Given the description of an element on the screen output the (x, y) to click on. 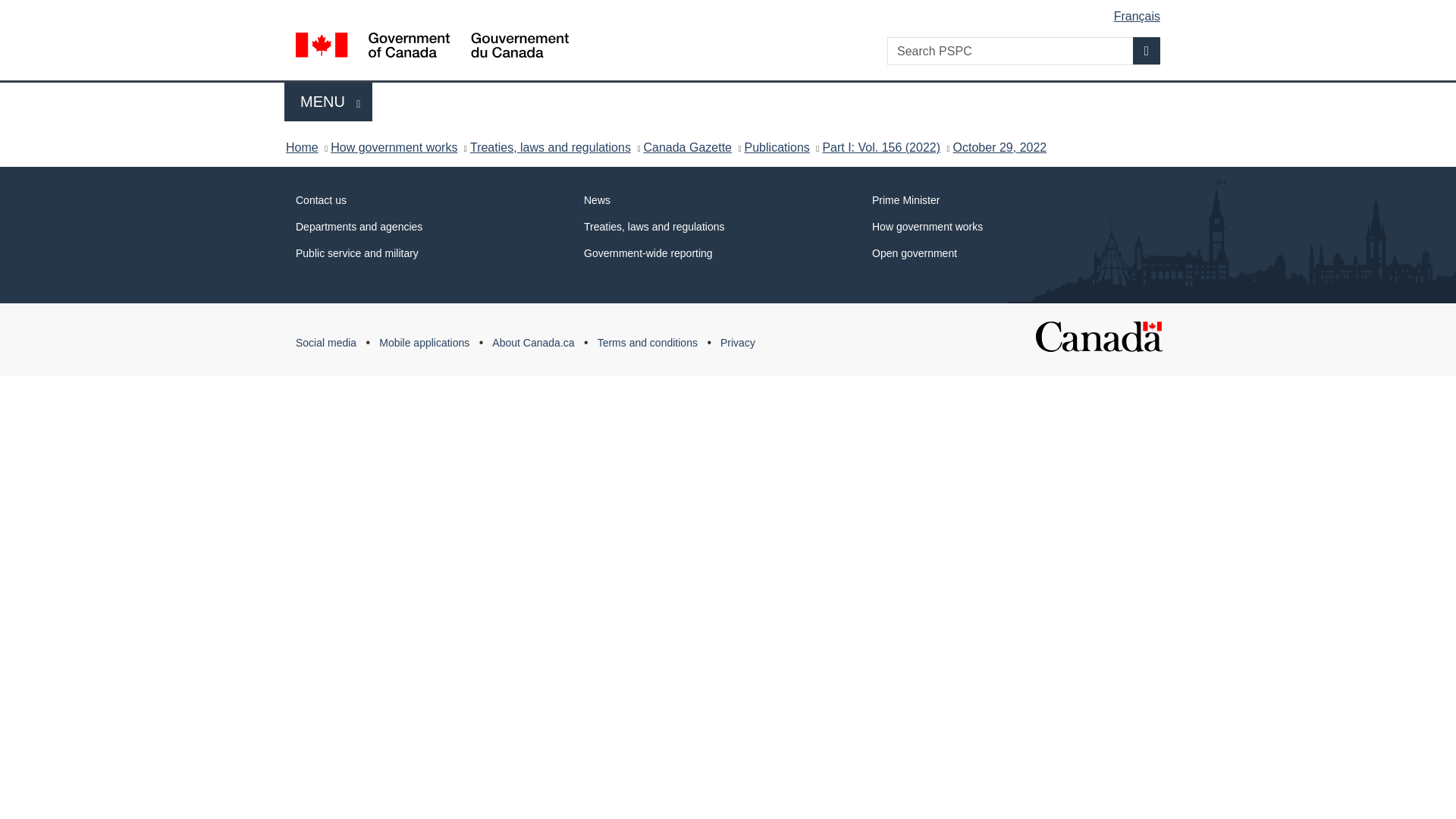
Skip to main content (327, 101)
Search (731, 11)
October 29, 2022 (1146, 50)
How government works (999, 147)
Canada Gazette (393, 147)
Treaties, laws and regulations (687, 147)
Publications (550, 147)
Home (776, 147)
